Given the description of an element on the screen output the (x, y) to click on. 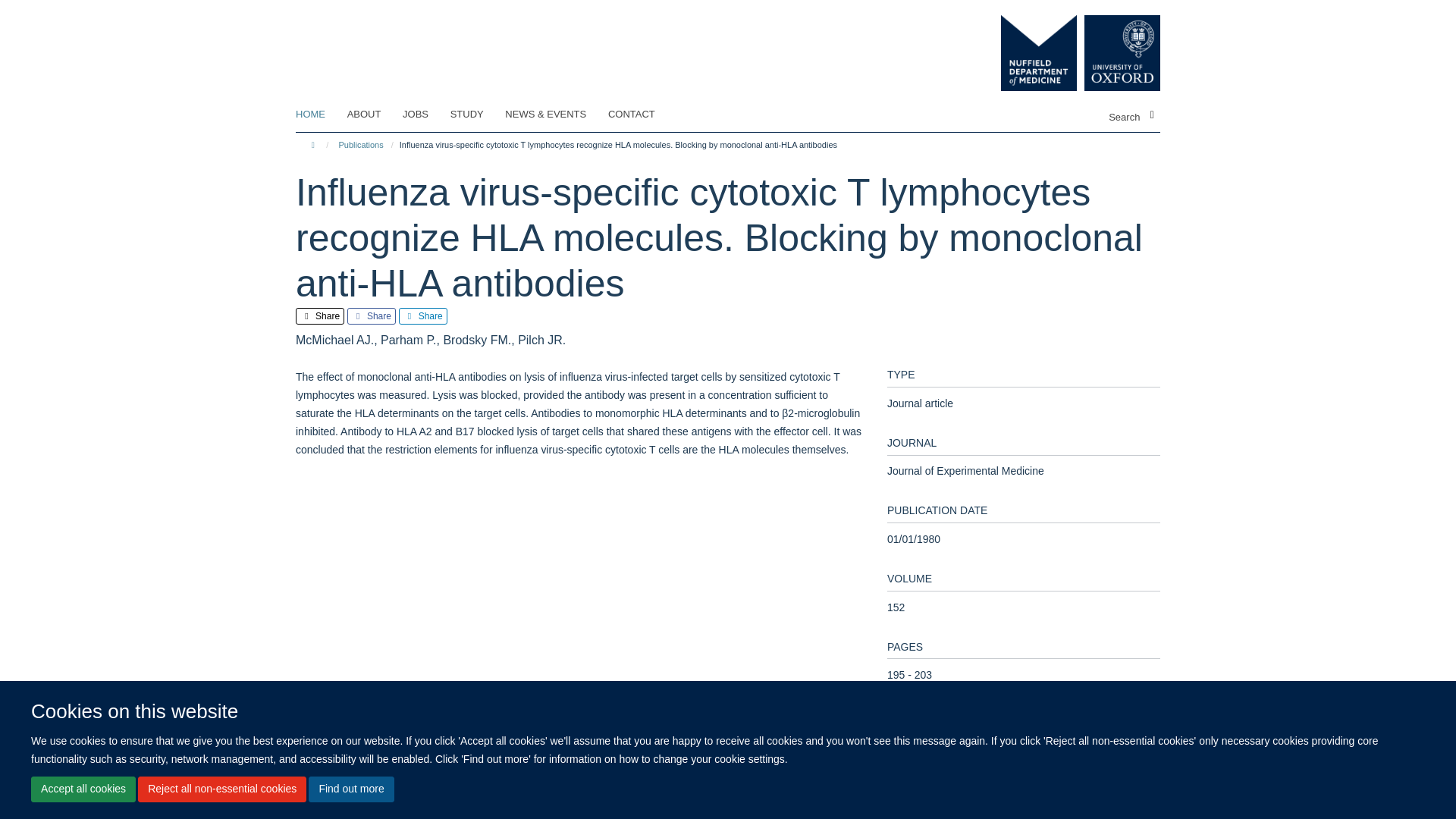
ABOUT (373, 114)
Find out more (350, 789)
Reject all non-essential cookies (221, 789)
Accept all cookies (82, 789)
HOME (319, 114)
